Given the description of an element on the screen output the (x, y) to click on. 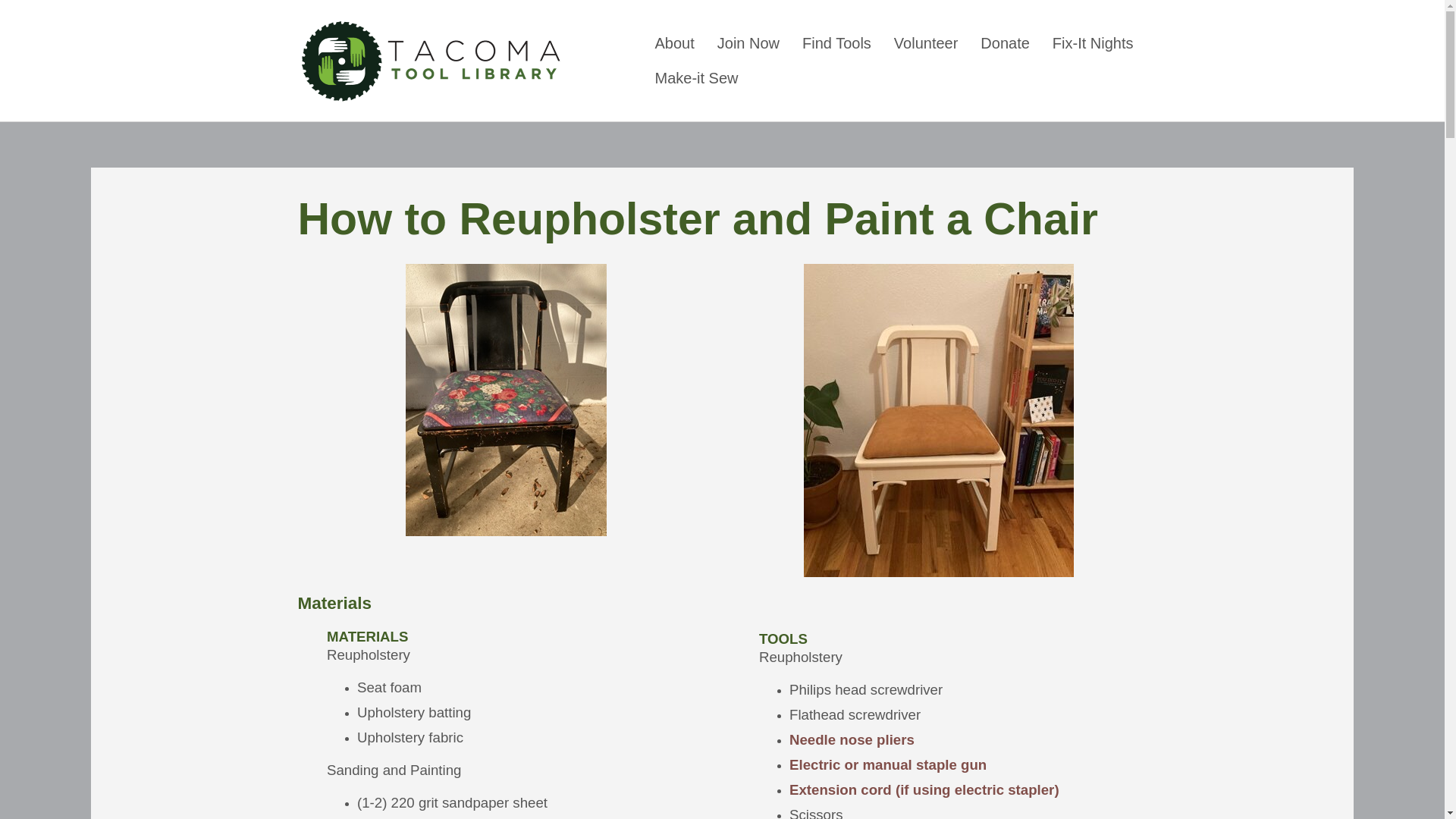
Volunteer (925, 42)
About (673, 42)
Fix-It Nights (1092, 42)
Make-it Sew (696, 77)
Join Now (748, 42)
Donate (1005, 42)
Find Tools (836, 42)
